Given the description of an element on the screen output the (x, y) to click on. 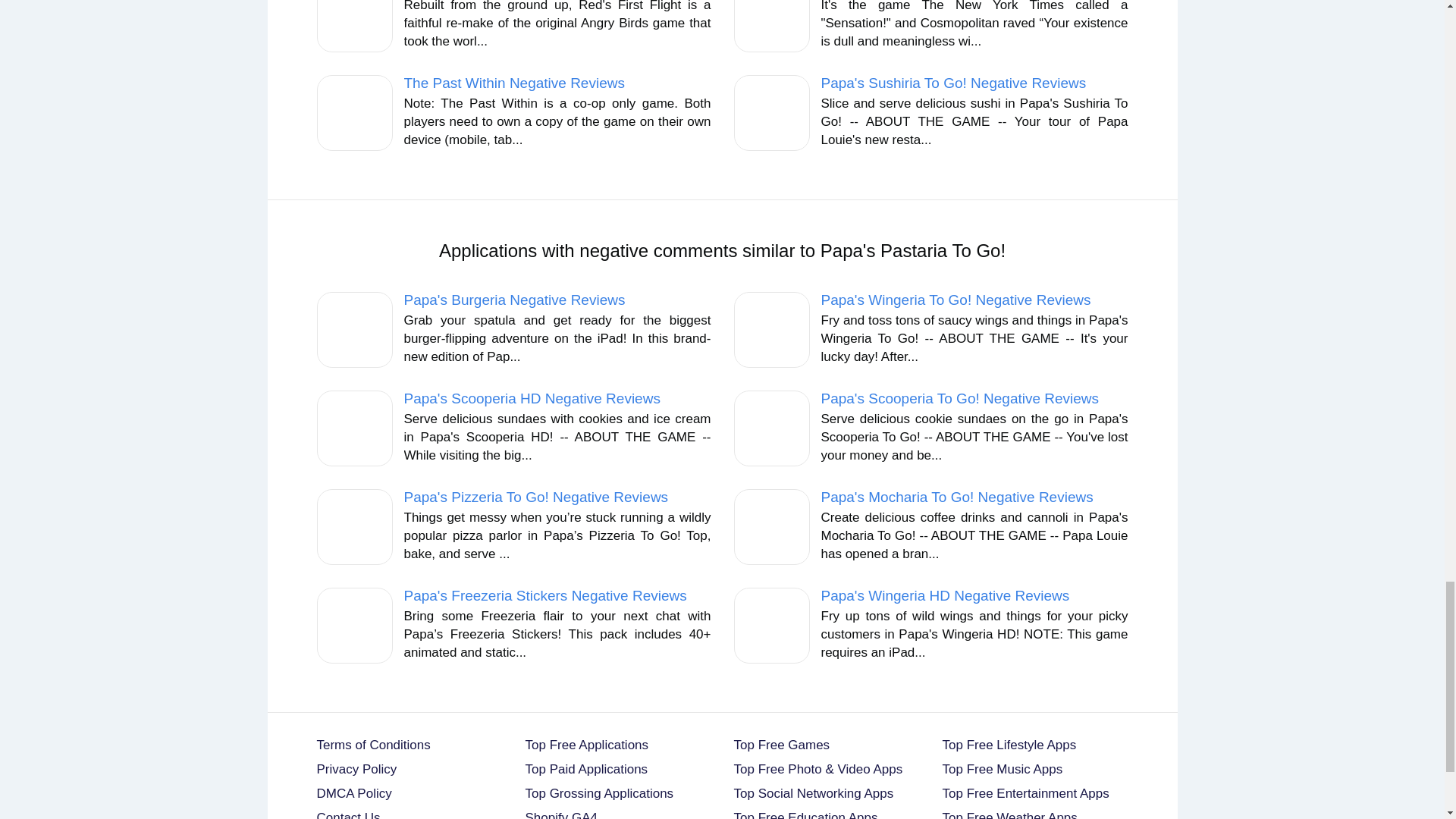
The Past Within Negative Reviews (513, 82)
